Given the description of an element on the screen output the (x, y) to click on. 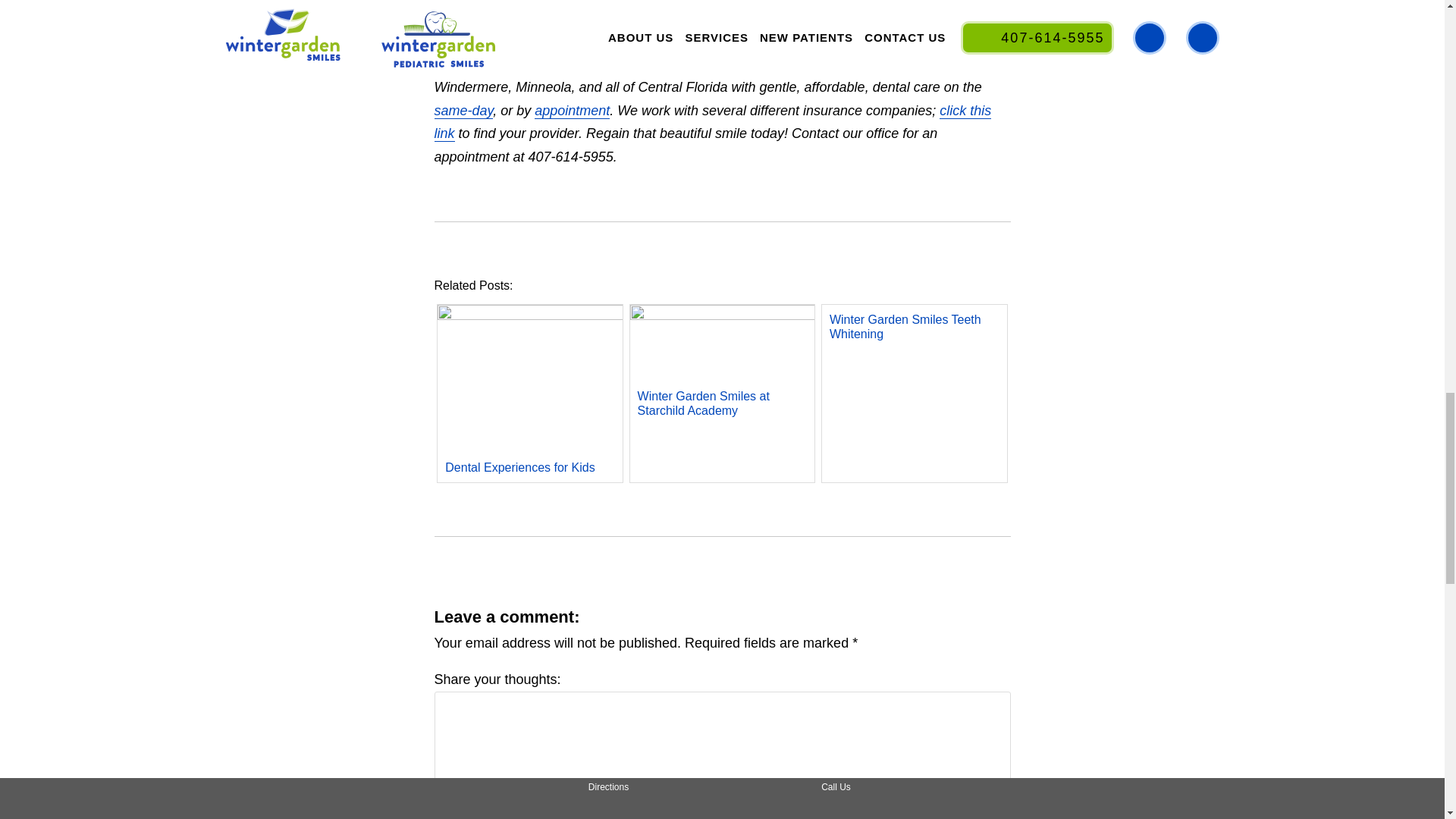
Winter Garden Smiles Teeth Whitening (914, 326)
Dental Experiences for Kids (530, 426)
Winter Garden Smiles at Starchild Academy (722, 379)
